Given the description of an element on the screen output the (x, y) to click on. 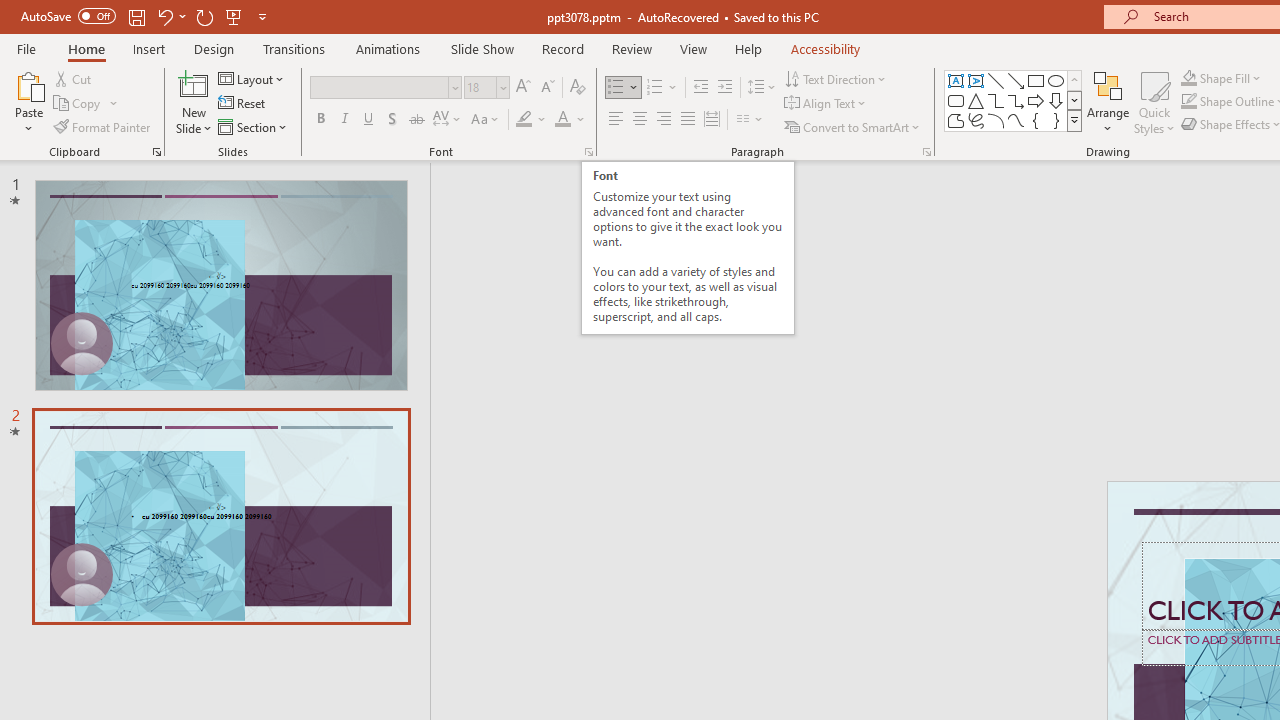
Row Down (1074, 100)
Shape Outline Green, Accent 1 (1188, 101)
Copy (78, 103)
Connector: Elbow (995, 100)
AutoSave (68, 16)
Left Brace (1035, 120)
Class: NetUIImage (1075, 120)
Convert to SmartArt (853, 126)
System (10, 11)
Bullets (623, 87)
Copy (85, 103)
Customize Quick Access Toolbar (262, 15)
Shadow (392, 119)
Quick Styles (1154, 102)
